Given the description of an element on the screen output the (x, y) to click on. 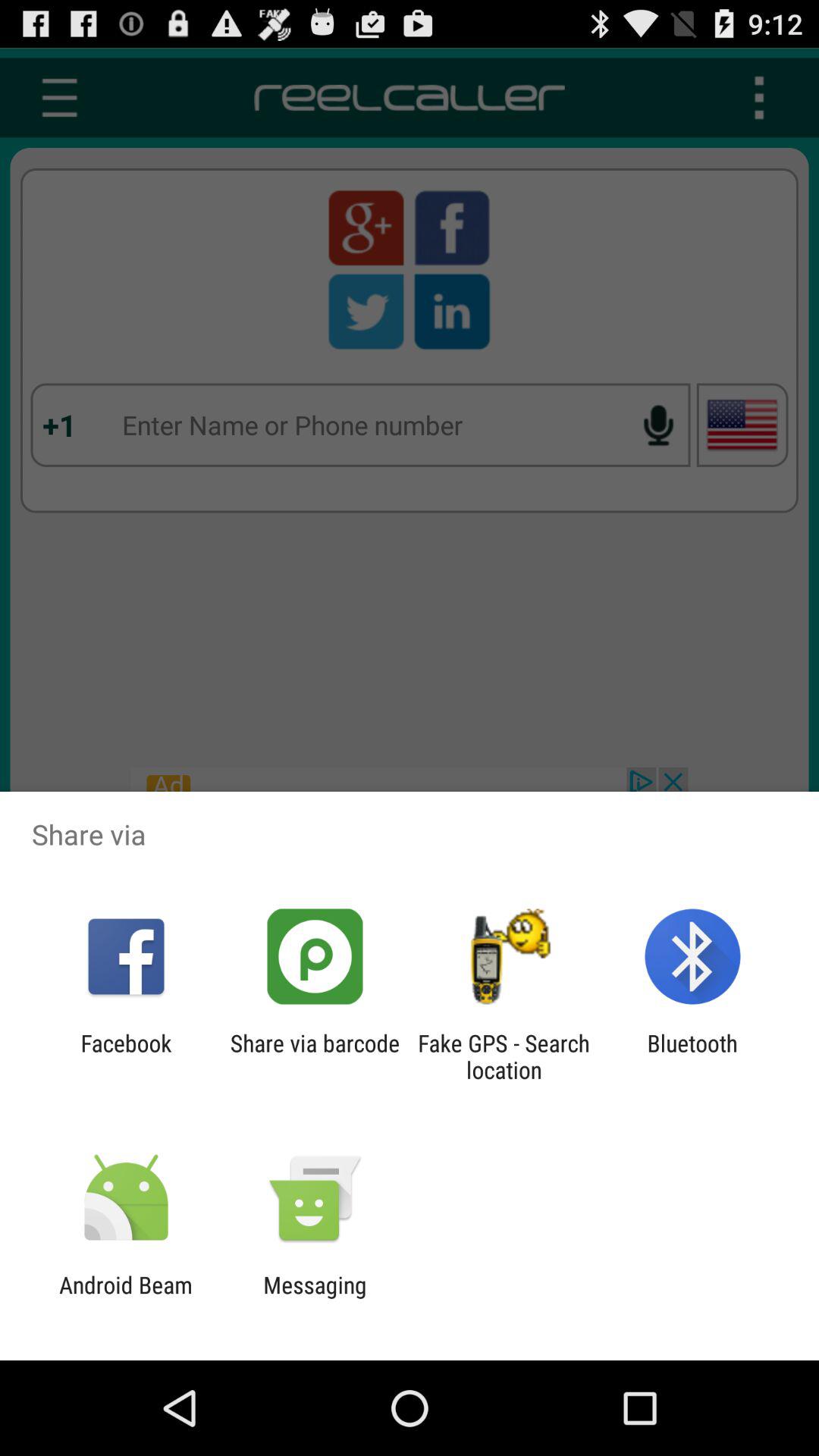
tap icon to the right of android beam app (314, 1298)
